Given the description of an element on the screen output the (x, y) to click on. 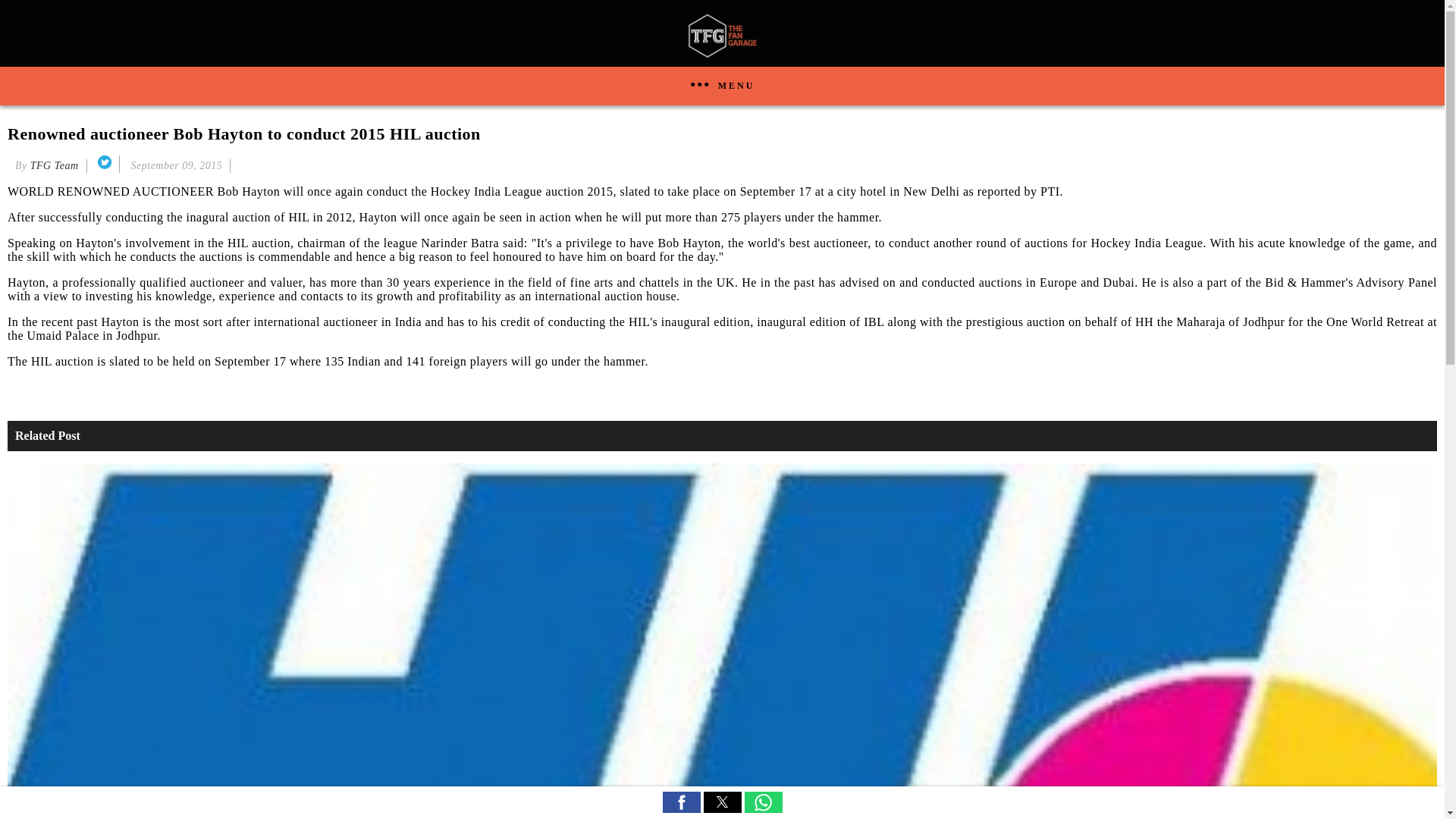
TFG Team (54, 165)
